Given the description of an element on the screen output the (x, y) to click on. 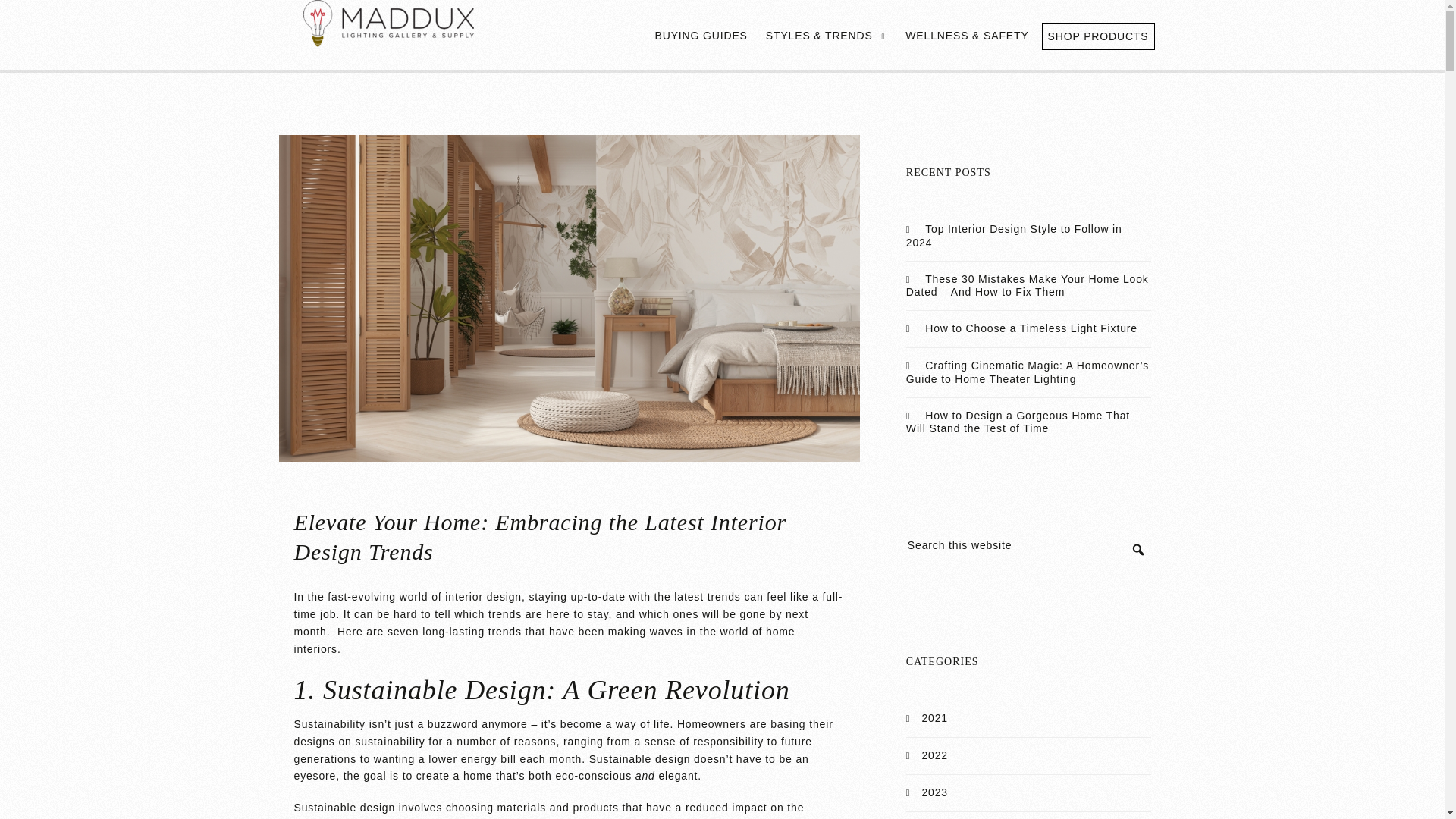
2022 (934, 755)
BUYING GUIDES (700, 35)
Top Interior Design Style to Follow in 2024 (1013, 235)
2023 (934, 792)
2021 (934, 717)
SHOP PRODUCTS (1098, 36)
How to Choose a Timeless Light Fixture (1030, 328)
